Given the description of an element on the screen output the (x, y) to click on. 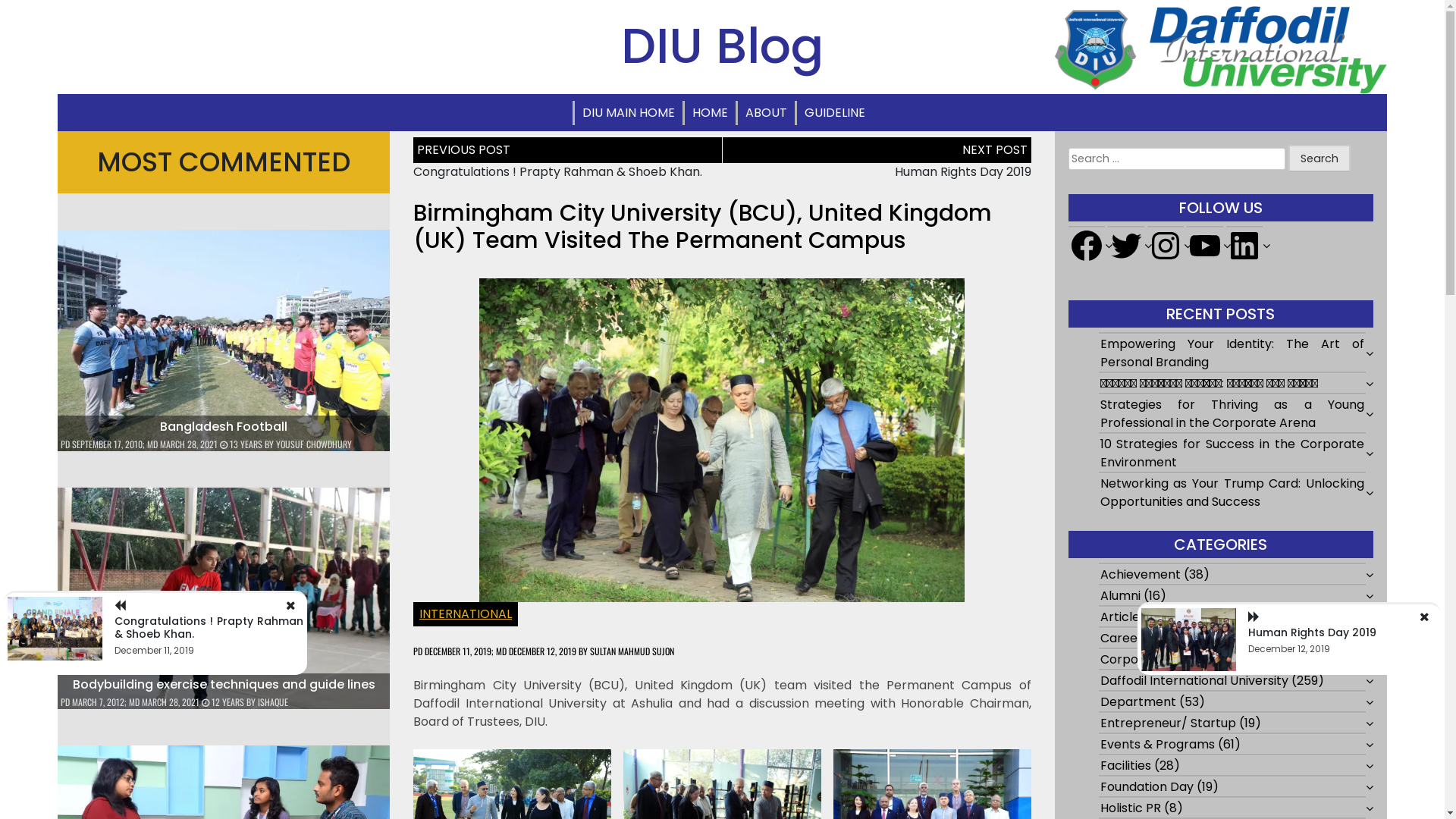
Instagram Element type: text (1165, 245)
Human Rights Day 2019 Element type: text (962, 171)
Events & Programs Element type: text (1157, 744)
Twitter Element type: text (1125, 245)
Article Element type: text (1119, 616)
Achievement Element type: text (1140, 574)
Foundation Day Element type: text (1146, 786)
DIU Blog Element type: text (722, 45)
DIU MAIN HOME Element type: text (628, 112)
HOME Element type: text (709, 112)
Corporate Element type: text (1132, 659)
Bangladesh Football Element type: text (223, 426)
Facilities Element type: text (1125, 765)
Department Element type: text (1138, 701)
YouTube Element type: text (1204, 245)
MARCH 7, 2012; MD MARCH 28, 2021 Element type: text (135, 701)
LinkedIn Element type: text (1244, 245)
Congratulations ! Prapty Rahman & Shoeb Khan. Element type: text (557, 171)
ABOUT Element type: text (765, 112)
13 YEARS Element type: text (241, 443)
ISHAQUE Element type: text (272, 701)
SULTAN MAHMUD SUJON Element type: text (631, 650)
GUIDELINE Element type: text (834, 112)
DECEMBER 11, 2019; MD DECEMBER 12, 2019 Element type: text (500, 650)
Empowering Your Identity: The Art of Personal Branding Element type: text (1232, 352)
SEPTEMBER 17, 2010; MD MARCH 28, 2021 Element type: text (144, 443)
Career Element type: text (1121, 637)
Holistic PR Element type: text (1130, 807)
Facebook Element type: text (1086, 245)
10 Strategies for Success in the Corporate Environment Element type: text (1232, 452)
Bodybuilding exercise techniques and guide lines Element type: text (223, 684)
Entrepreneur/ Startup Element type: text (1168, 722)
Congratulations ! Prapty Rahman & Shoeb Khan. Element type: text (208, 627)
YOUSUF CHOWDHURY Element type: text (313, 443)
Daffodil International University Element type: text (1194, 680)
12 YEARS Element type: text (223, 701)
Alumni Element type: text (1120, 595)
Search Element type: text (1319, 158)
INTERNATIONAL Element type: text (465, 613)
Human Rights Day 2019 Element type: text (1312, 632)
